Given the description of an element on the screen output the (x, y) to click on. 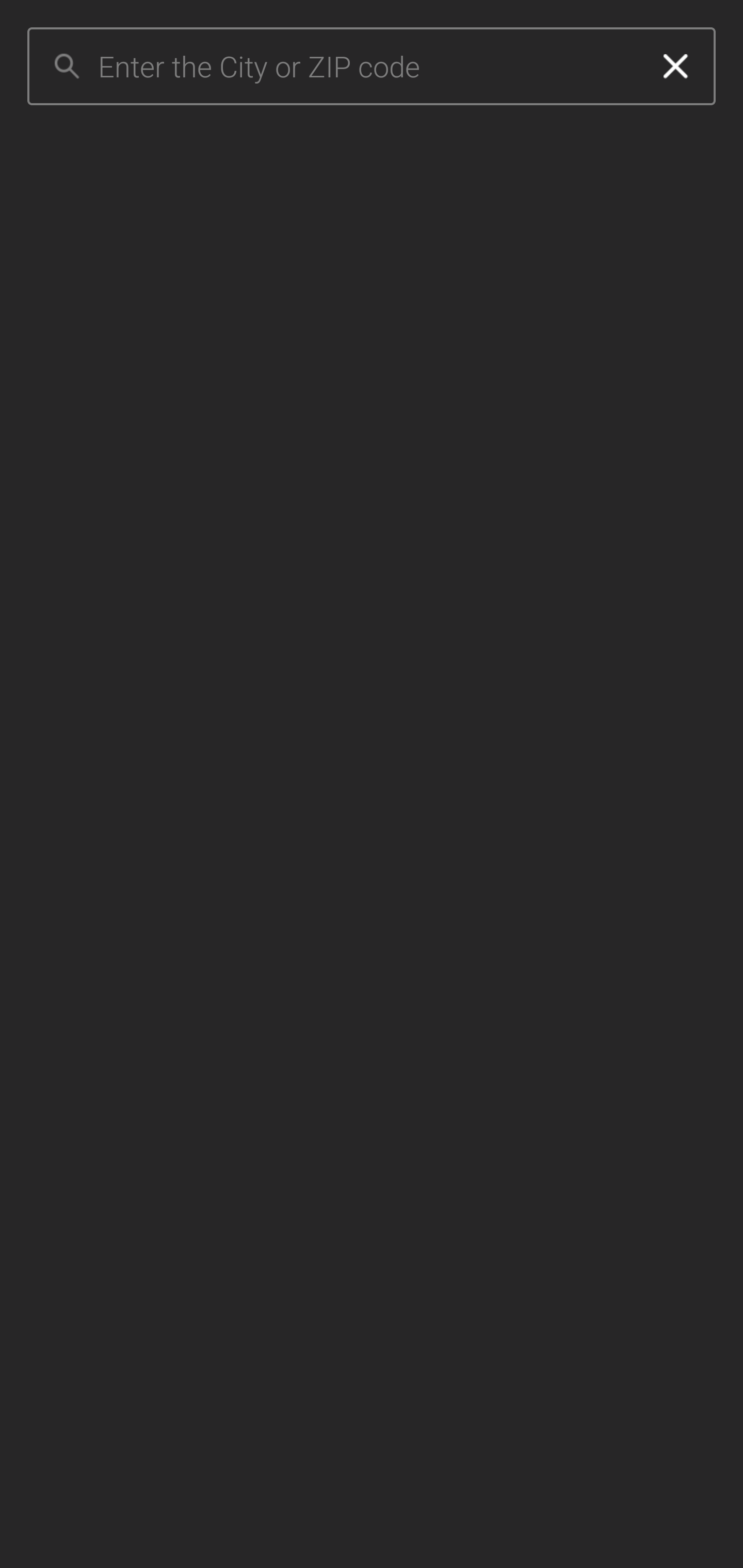
Enter the City or ZIP code (367, 66)
